Given the description of an element on the screen output the (x, y) to click on. 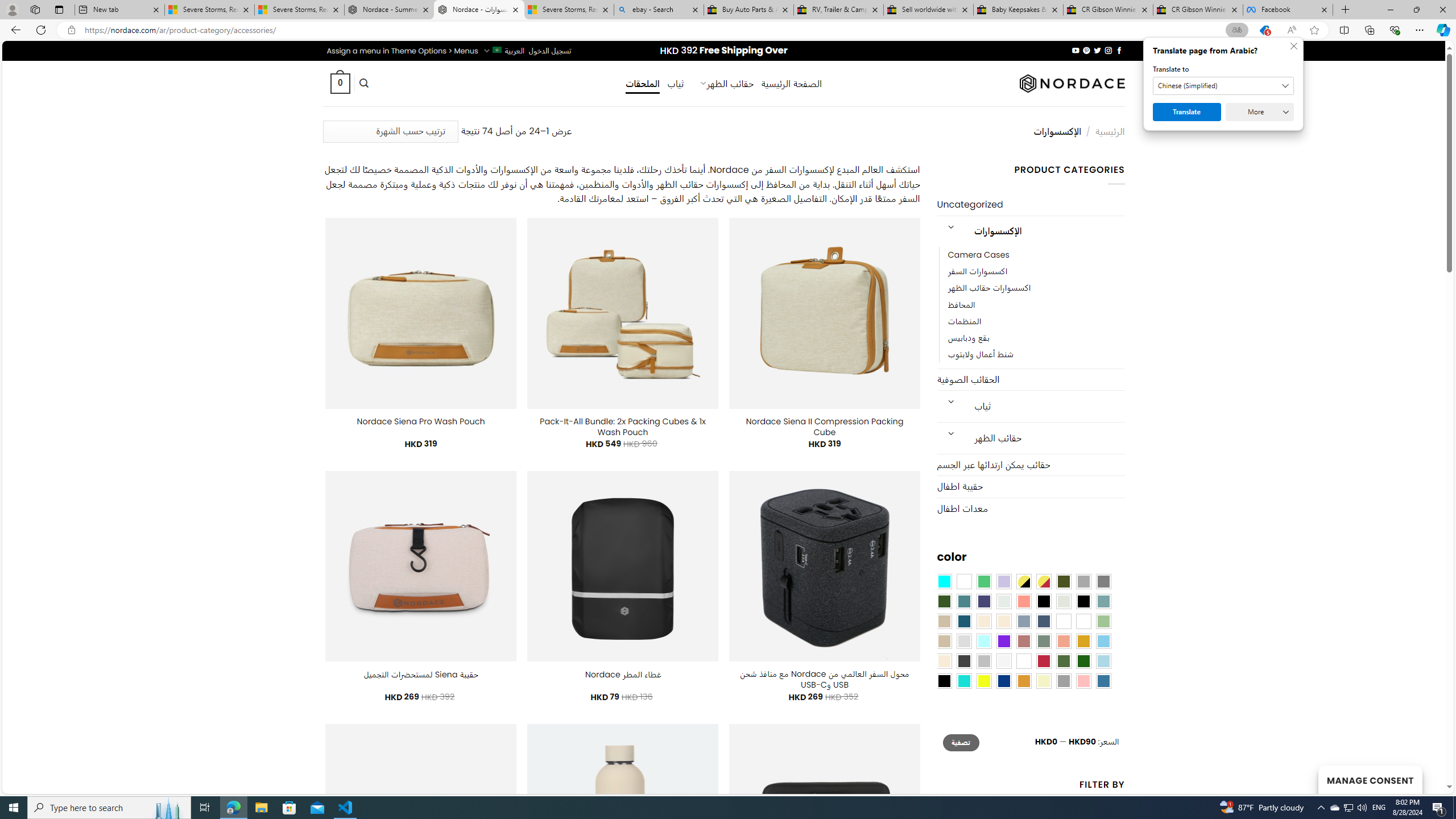
This site has coupons! Shopping in Microsoft Edge, 5 (1263, 29)
Ash Gray (1063, 601)
Camera Cases (978, 254)
Follow on Instagram (1108, 50)
MANAGE CONSENT (1369, 779)
Follow on YouTube (1074, 50)
All Black (1043, 601)
